Given the description of an element on the screen output the (x, y) to click on. 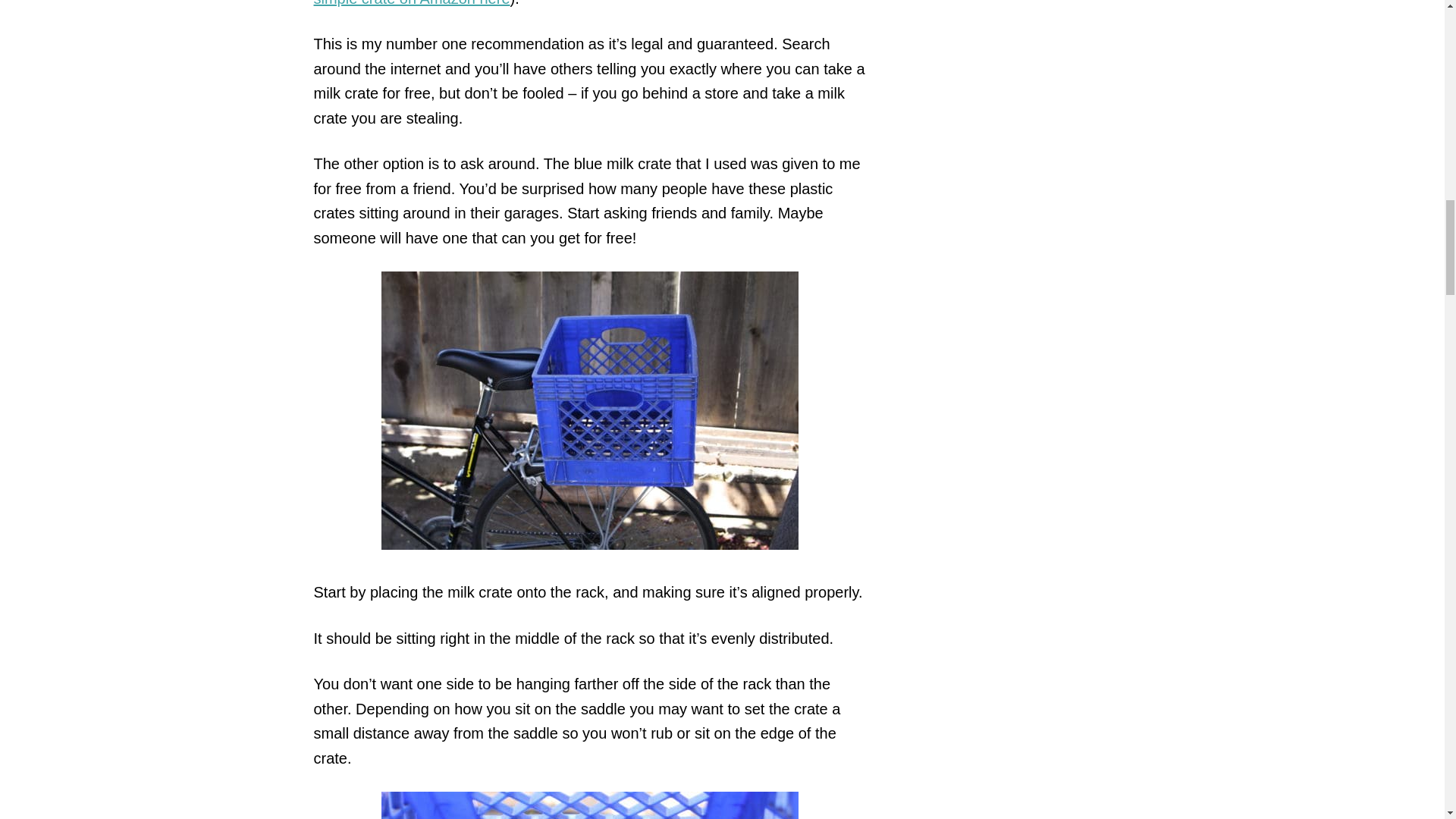
you can check out a simple crate on Amazon here (568, 3)
